Given the description of an element on the screen output the (x, y) to click on. 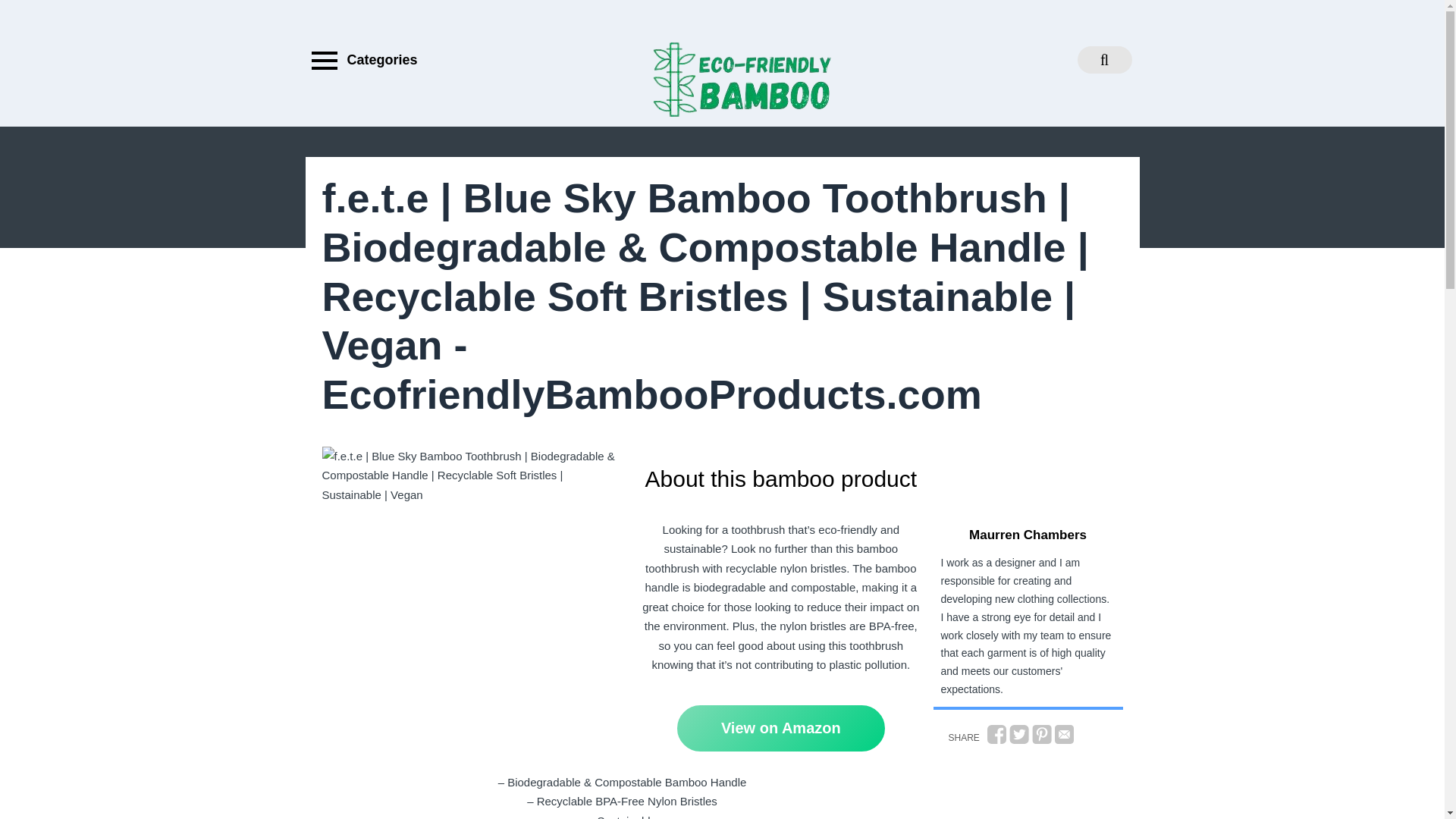
Categories (360, 59)
View on Amazon (780, 727)
EcofriendlyBambooProducts.com (802, 198)
